Given the description of an element on the screen output the (x, y) to click on. 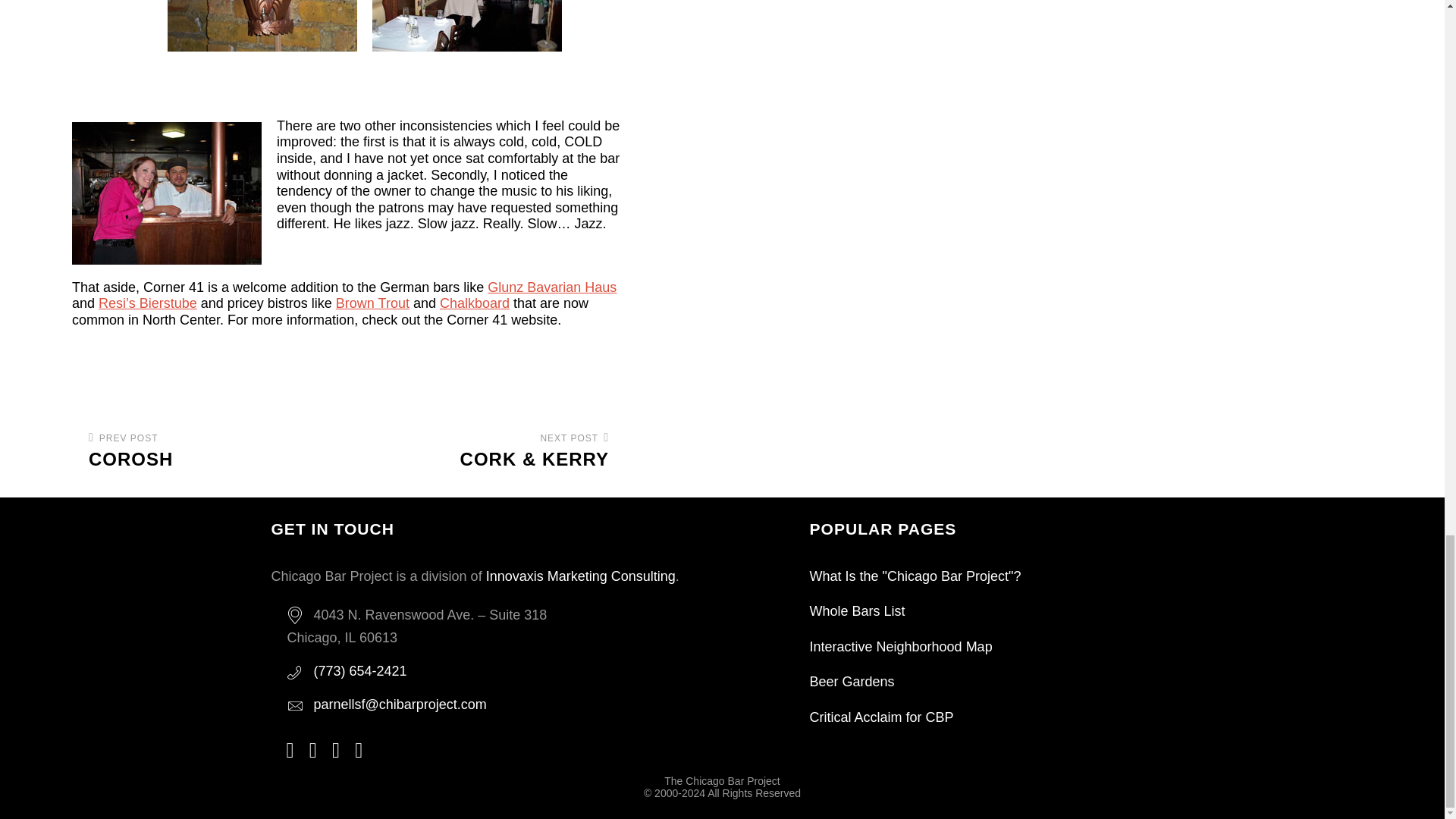
Innovaxis Marketing Consulting (580, 575)
Brown Trout (202, 450)
Chalkboard (372, 303)
Glunz Bavarian Haus (474, 303)
